Given the description of an element on the screen output the (x, y) to click on. 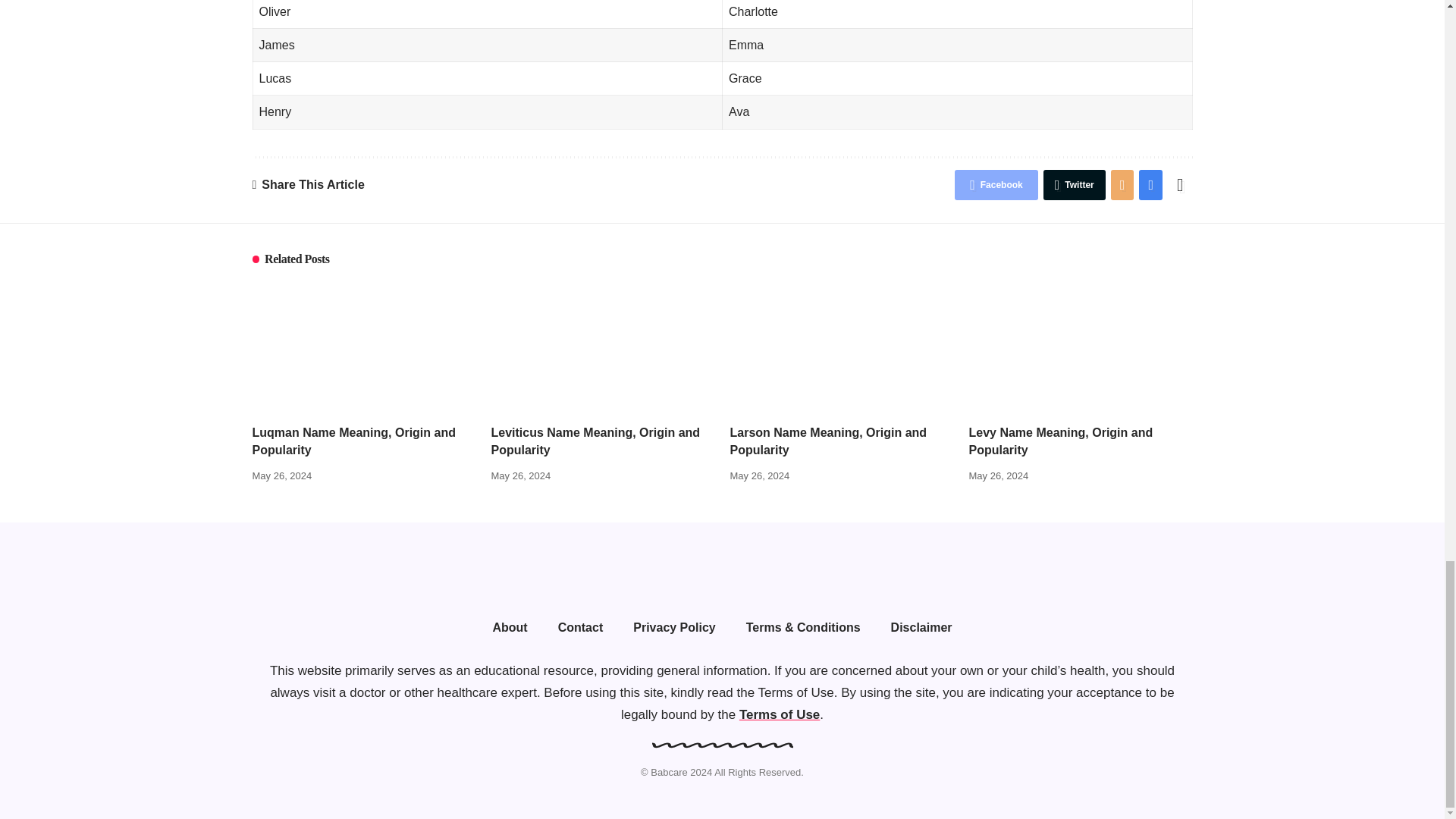
Luqman Name Meaning, Origin and Popularity (363, 347)
Leviticus Name Meaning, Origin and Popularity (603, 347)
Levy Name Meaning, Origin and Popularity (1080, 347)
Larson Name Meaning, Origin and Popularity (841, 347)
